Given the description of an element on the screen output the (x, y) to click on. 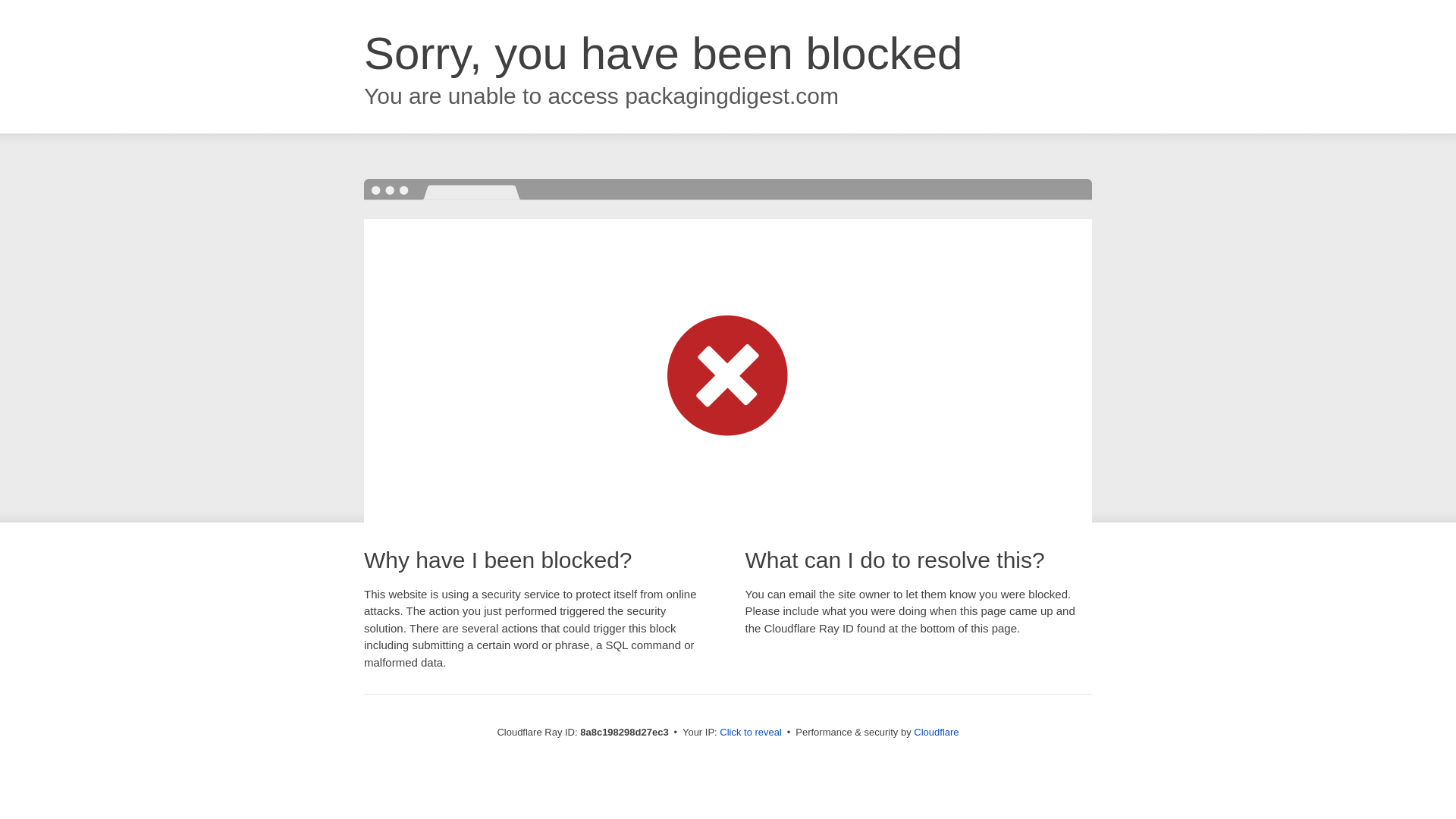
Click to reveal (750, 732)
Cloudflare (936, 731)
